Given the description of an element on the screen output the (x, y) to click on. 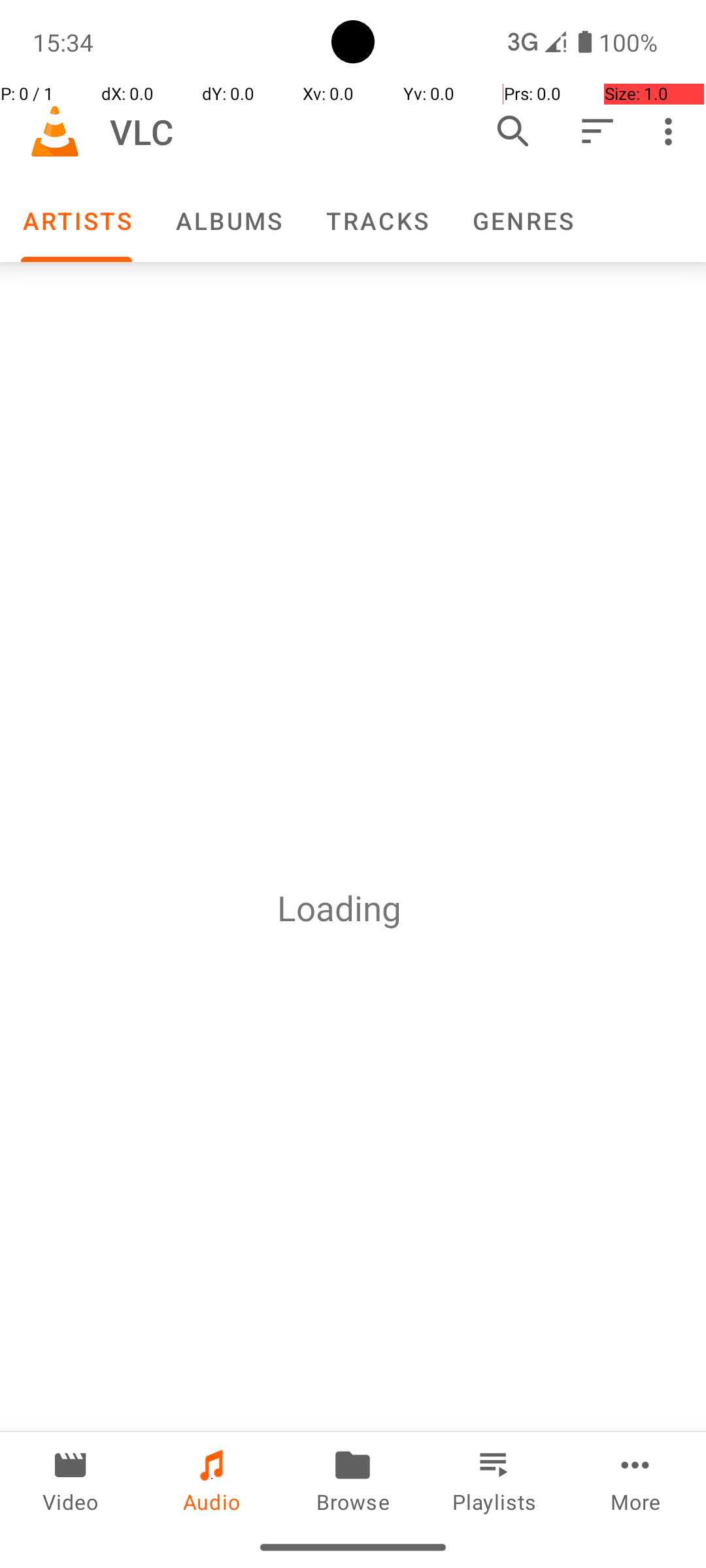
Genres Element type: android.widget.LinearLayout (521, 220)
ARTISTS Element type: android.widget.TextView (76, 220)
ALBUMS Element type: android.widget.TextView (227, 220)
TRACKS Element type: android.widget.TextView (376, 220)
GENRES Element type: android.widget.TextView (521, 220)
